Given the description of an element on the screen output the (x, y) to click on. 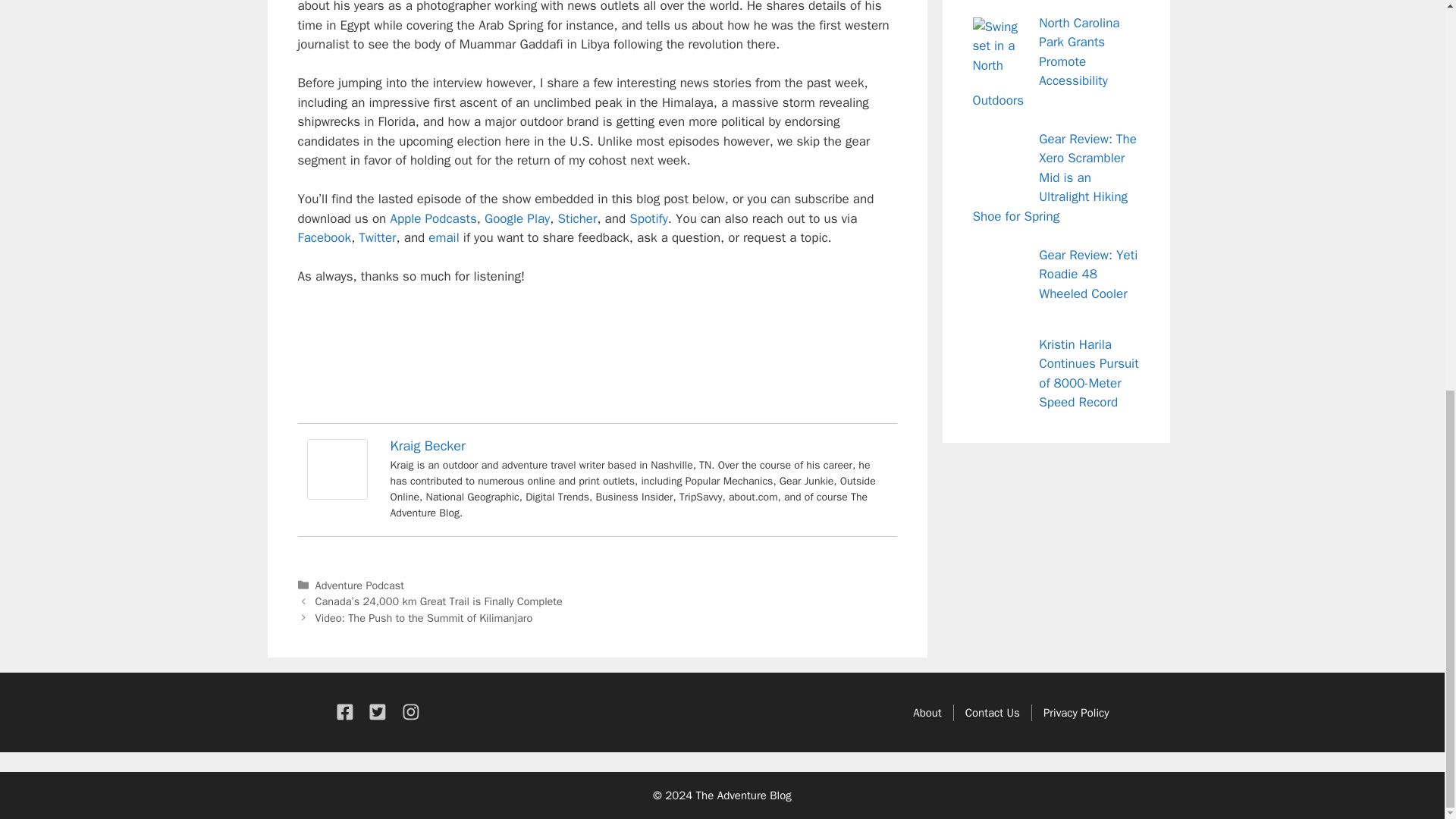
Apple Podcasts (433, 218)
Adventure Podcast (359, 585)
Sticher (576, 218)
Google Play (517, 218)
Spotify (648, 218)
Twitter (377, 237)
email (443, 237)
Facebook (323, 237)
Kraig Becker (335, 495)
Kraig Becker (427, 445)
